Given the description of an element on the screen output the (x, y) to click on. 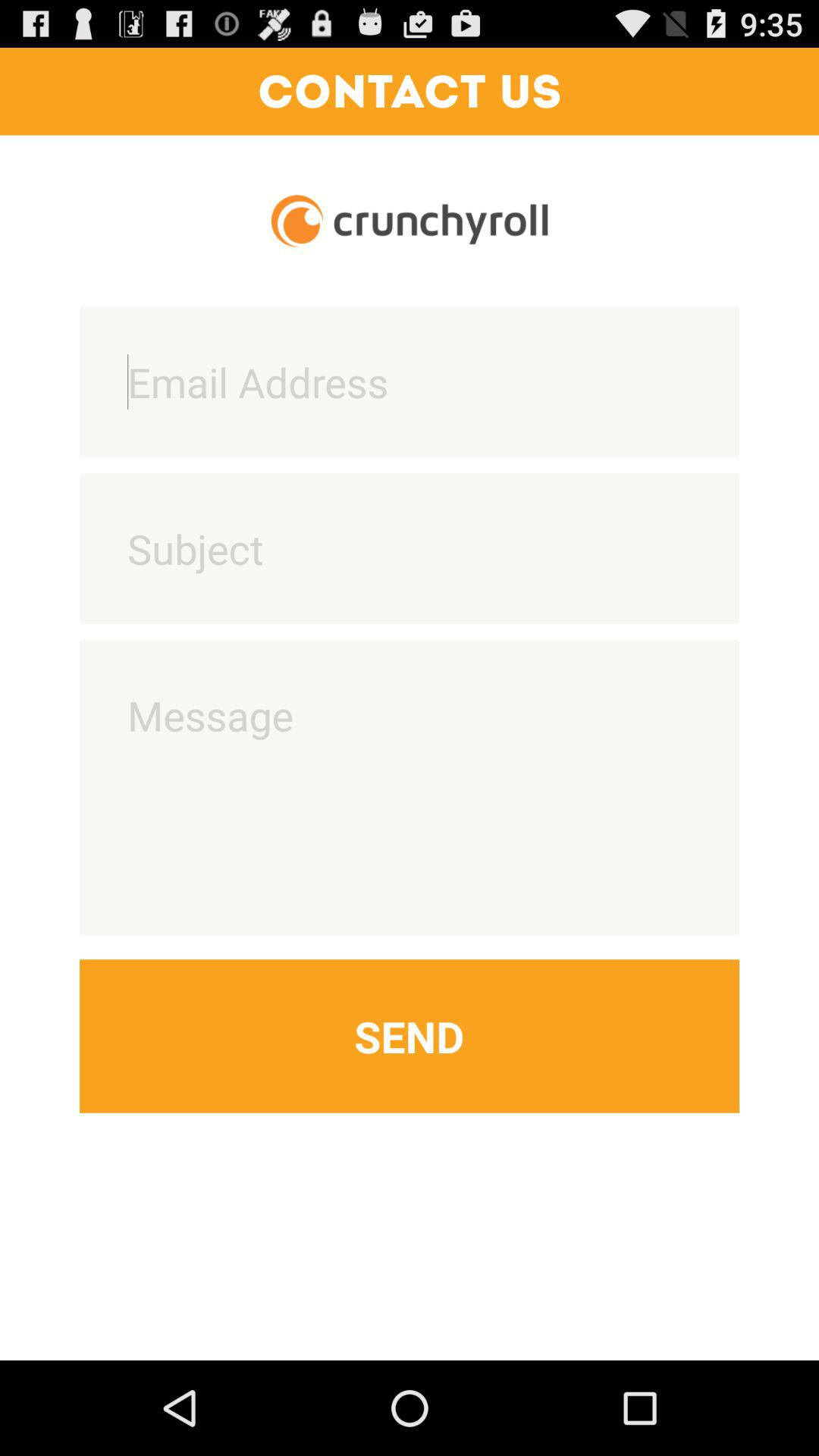
message entry field (409, 787)
